Given the description of an element on the screen output the (x, y) to click on. 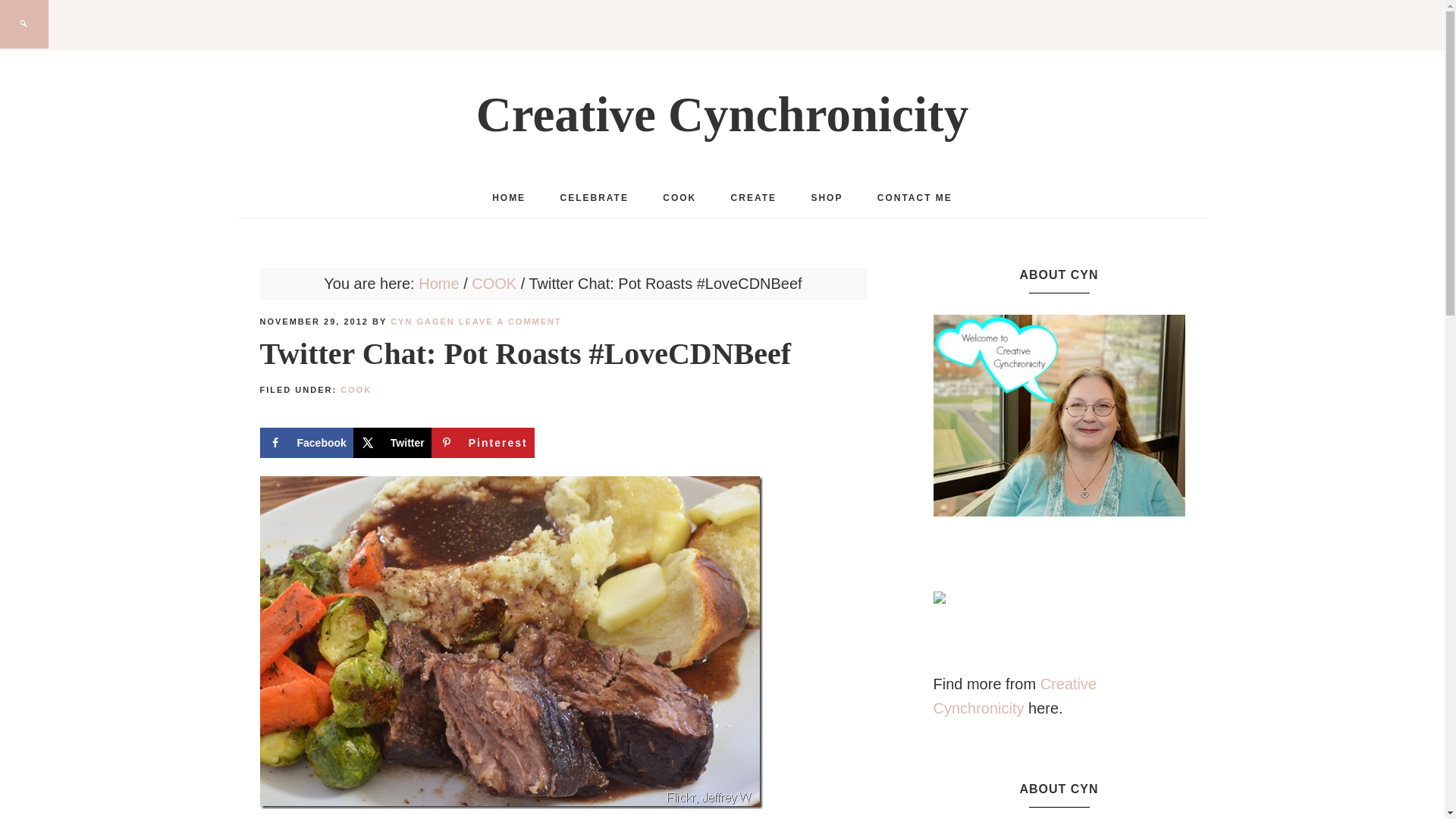
Save to Pinterest (482, 442)
CREATE (754, 197)
HOME (508, 197)
Creative Cynchronicity (722, 113)
Share on X (391, 442)
CELEBRATE (593, 197)
CELEBRATE (593, 197)
COOK (679, 197)
CREATE (754, 197)
